Given the description of an element on the screen output the (x, y) to click on. 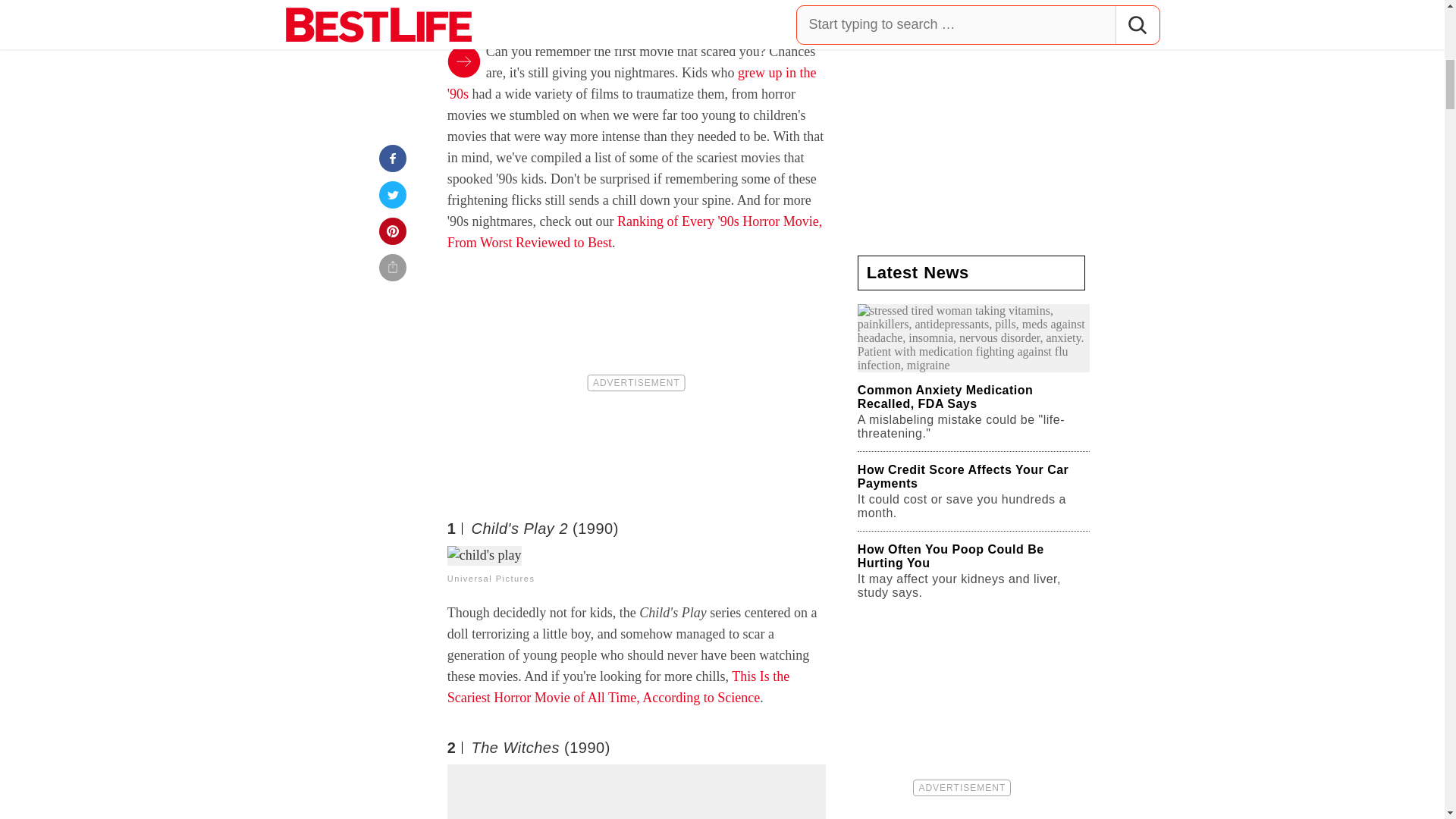
grew up in the '90s (631, 83)
